Given the description of an element on the screen output the (x, y) to click on. 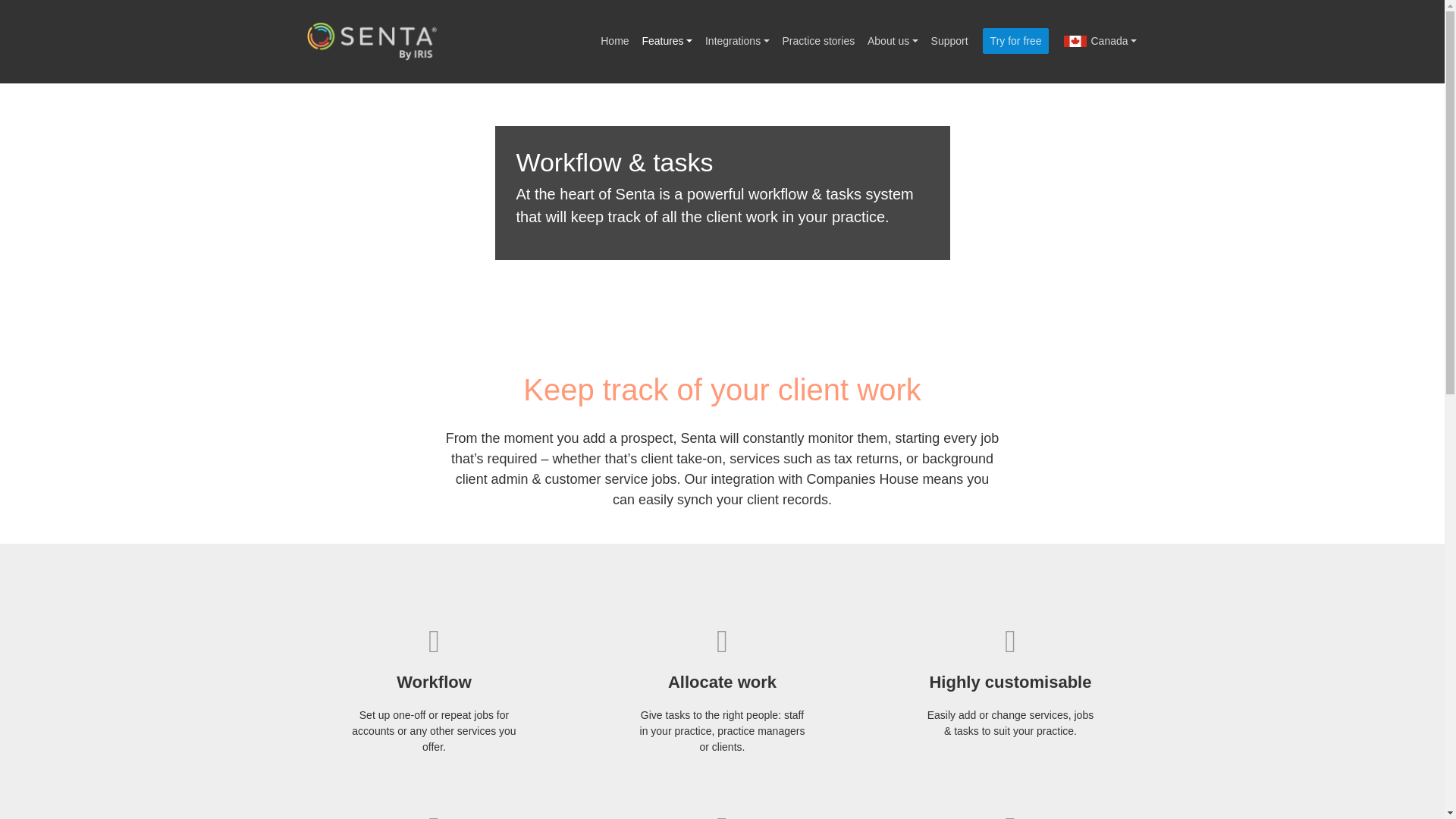
About us (892, 40)
Integrations (737, 40)
Features (666, 40)
Try for free (1015, 40)
Features (666, 40)
Canada (1099, 40)
Integrations (737, 40)
Practice stories (818, 40)
Support (949, 40)
Home (614, 40)
